Given the description of an element on the screen output the (x, y) to click on. 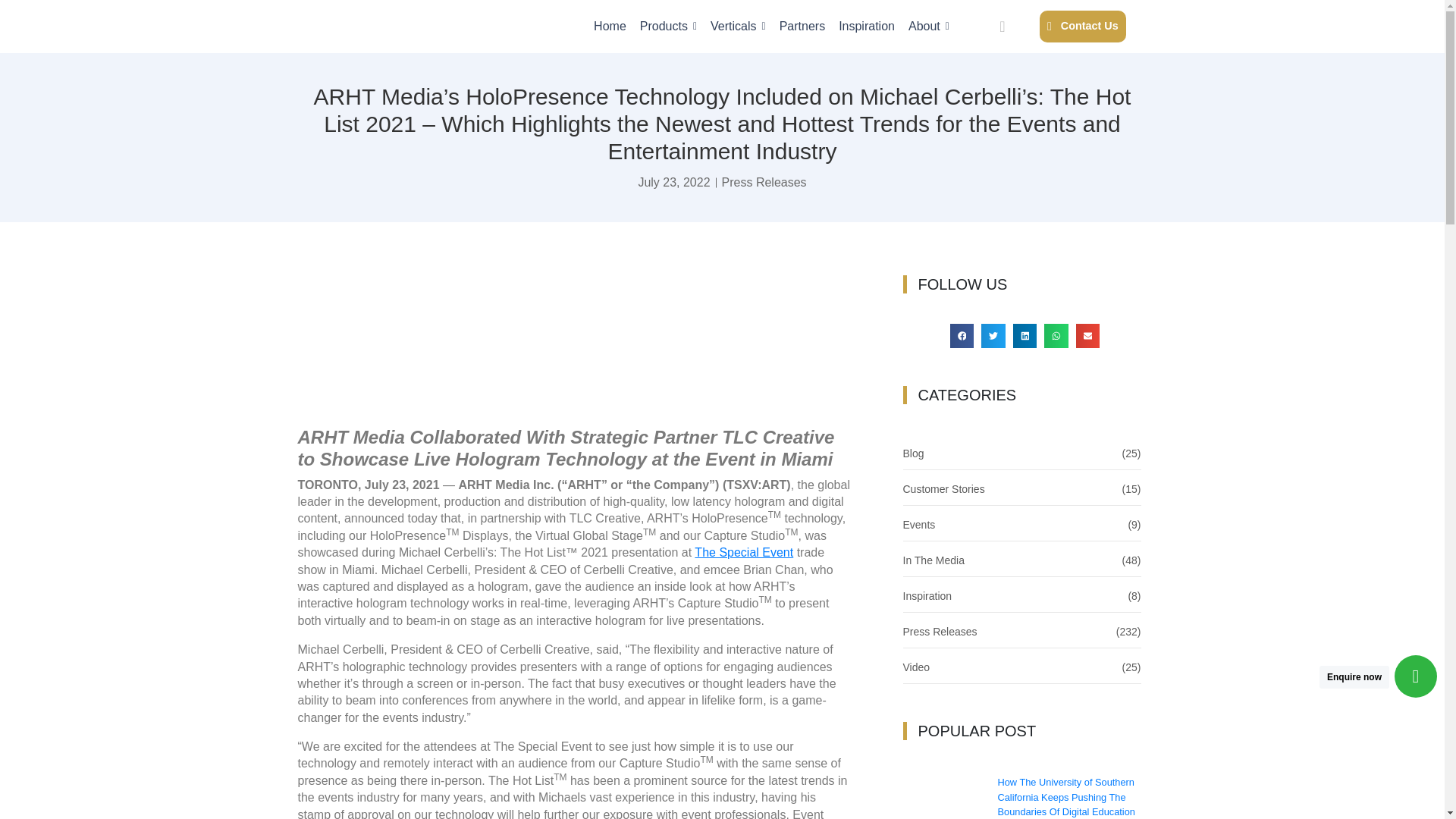
About (928, 26)
Partners (801, 26)
Products (668, 26)
Home (610, 26)
Verticals (737, 26)
Inspiration (866, 26)
